Given the description of an element on the screen output the (x, y) to click on. 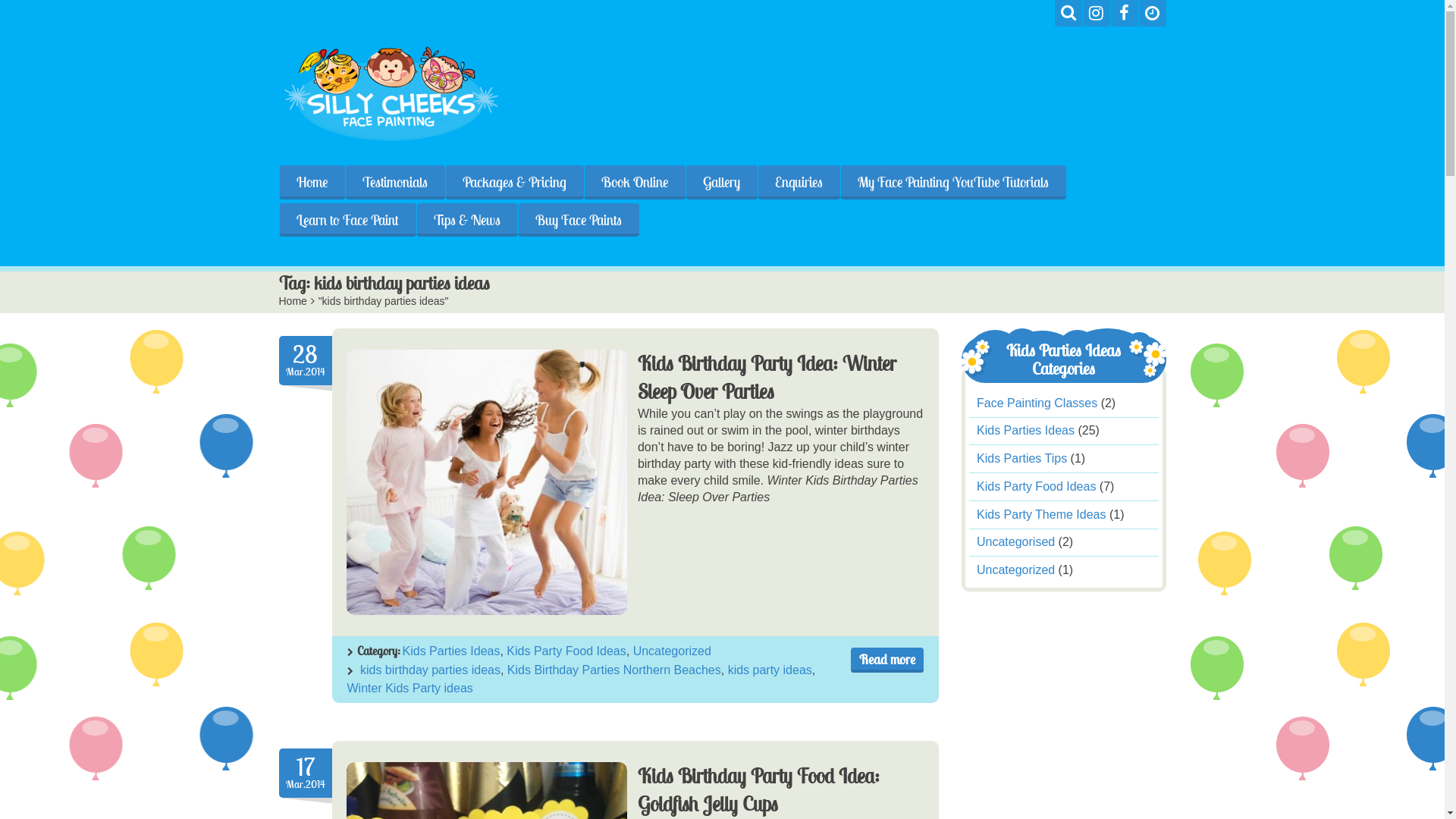
Kids Birthday Party Food Idea: Goldfish Jelly Cups Element type: text (758, 789)
Gallery Element type: text (721, 182)
Tips & News Element type: text (466, 220)
Facebook Element type: hover (1123, 13)
Face Painting Classes Element type: text (1036, 402)
Read more Element type: text (886, 659)
Kids Birthday Party Idea: Winter Sleep Over Parties Element type: hover (485, 482)
Instagram Element type: hover (1096, 13)
Enquiries Element type: text (797, 182)
Uncategorized Element type: text (672, 650)
Home Element type: text (293, 300)
Kids Party Food Ideas Element type: text (565, 650)
Home Element type: text (312, 182)
Kids Parties Ideas Element type: text (1025, 430)
Kids Birthday Party Idea: Winter Sleep Over Parties Element type: text (766, 377)
Packages & Pricing Element type: text (513, 182)
Winter Kids Party ideas Element type: text (410, 687)
Learn to Face Paint Element type: text (347, 220)
Kids Party Food Ideas Element type: text (1035, 486)
Kids Parties Ideas Element type: text (450, 650)
Kids Birthday Parties Northern Beaches Element type: text (614, 669)
Buy Face Paints Element type: text (577, 220)
Kids Party Theme Ideas Element type: text (1040, 514)
Kids Parties Tips Element type: text (1021, 457)
Testimonials Element type: text (394, 182)
Face Painter Northern Beaches Sydney Silly Cheeks Element type: hover (392, 94)
TikTok Element type: hover (1152, 13)
Uncategorised Element type: text (1015, 542)
My Face Painting YouTube Tutorials Element type: text (953, 182)
Book Online Element type: text (634, 182)
kids birthday parties ideas Element type: text (430, 669)
Search Element type: hover (1067, 13)
kids party ideas Element type: text (770, 669)
Uncategorized Element type: text (1015, 569)
